Given the description of an element on the screen output the (x, y) to click on. 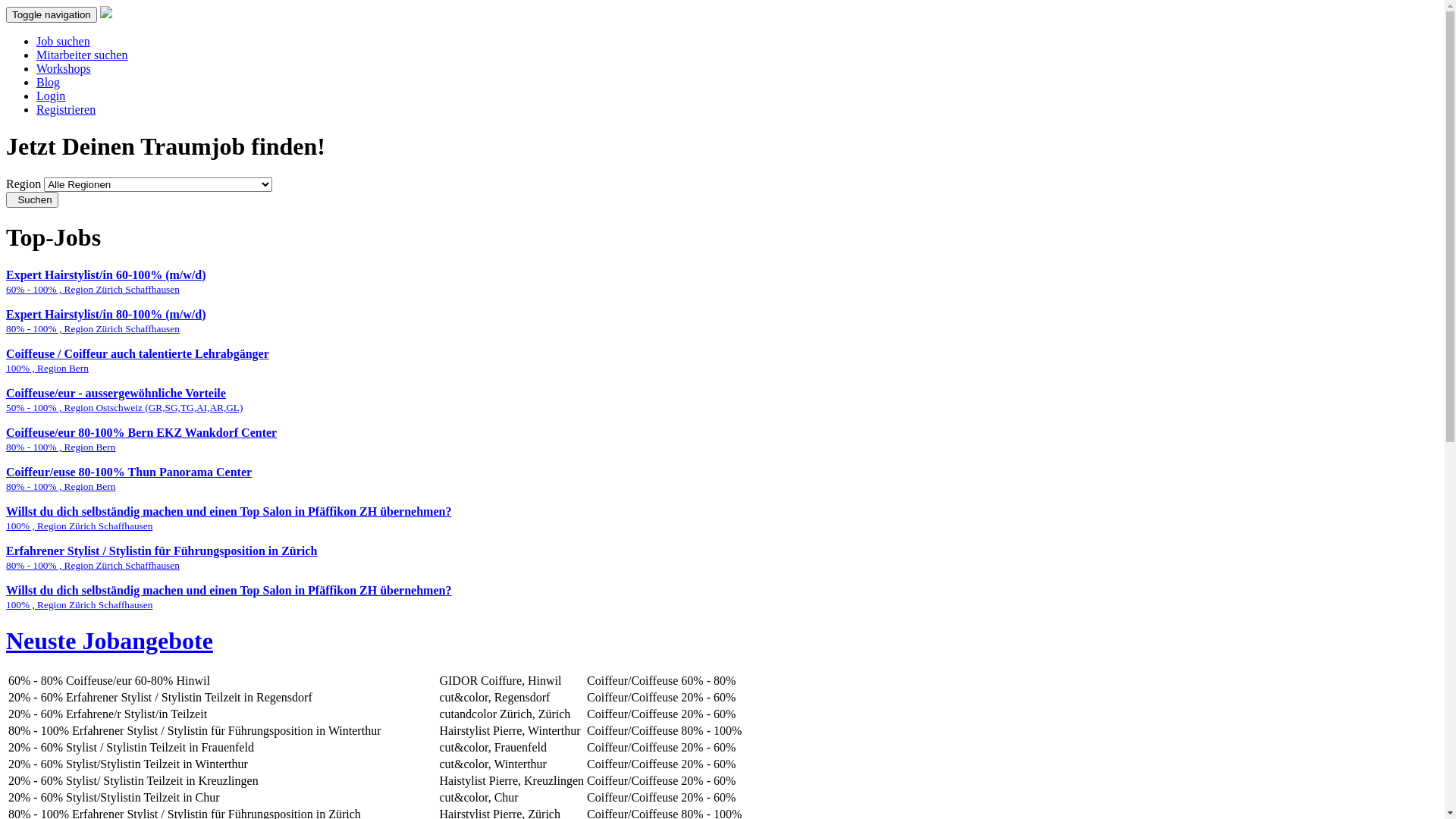
Neuste Jobangebote Element type: text (722, 641)
Toggle navigation Element type: text (51, 14)
Workshops Element type: text (63, 68)
Login Element type: text (50, 95)
  Suchen Element type: text (32, 199)
Mitarbeiter suchen Element type: text (81, 54)
Job suchen Element type: text (63, 40)
Blog Element type: text (47, 81)
Registrieren Element type: text (65, 109)
